Given the description of an element on the screen output the (x, y) to click on. 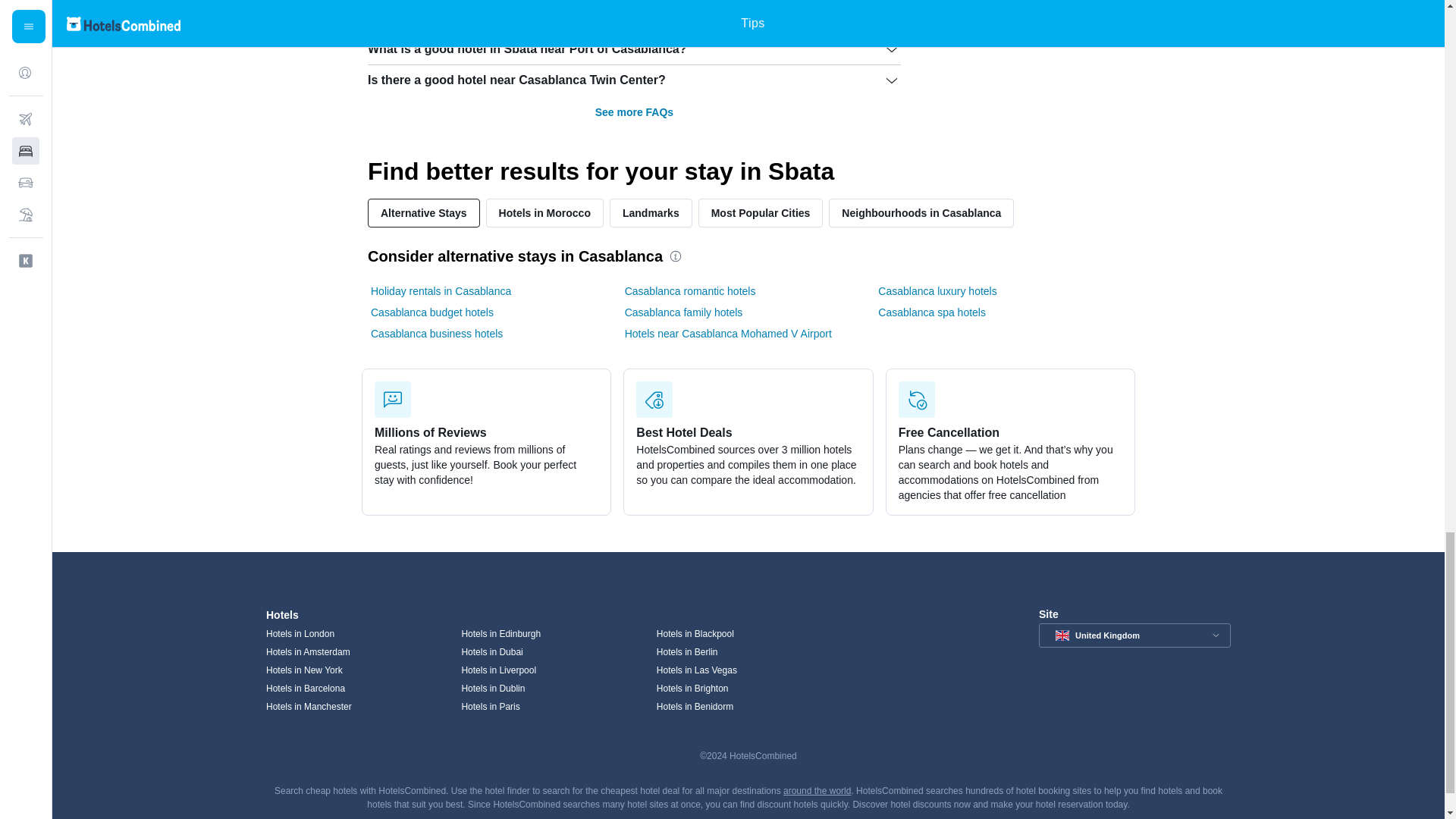
Hotels in Morocco (545, 213)
Casablanca family hotels (683, 312)
Casablanca spa hotels (931, 312)
Casablanca business hotels (436, 333)
Most Popular Cities (761, 213)
Neighbourhoods in Casablanca (920, 213)
Holiday rentals in Casablanca (441, 290)
Hotels near Casablanca Mohamed V Airport (727, 333)
Alternative Stays (424, 213)
Casablanca romantic hotels (689, 290)
Casablanca luxury hotels (936, 290)
Landmarks (651, 213)
Casablanca budget hotels (432, 312)
